Given the description of an element on the screen output the (x, y) to click on. 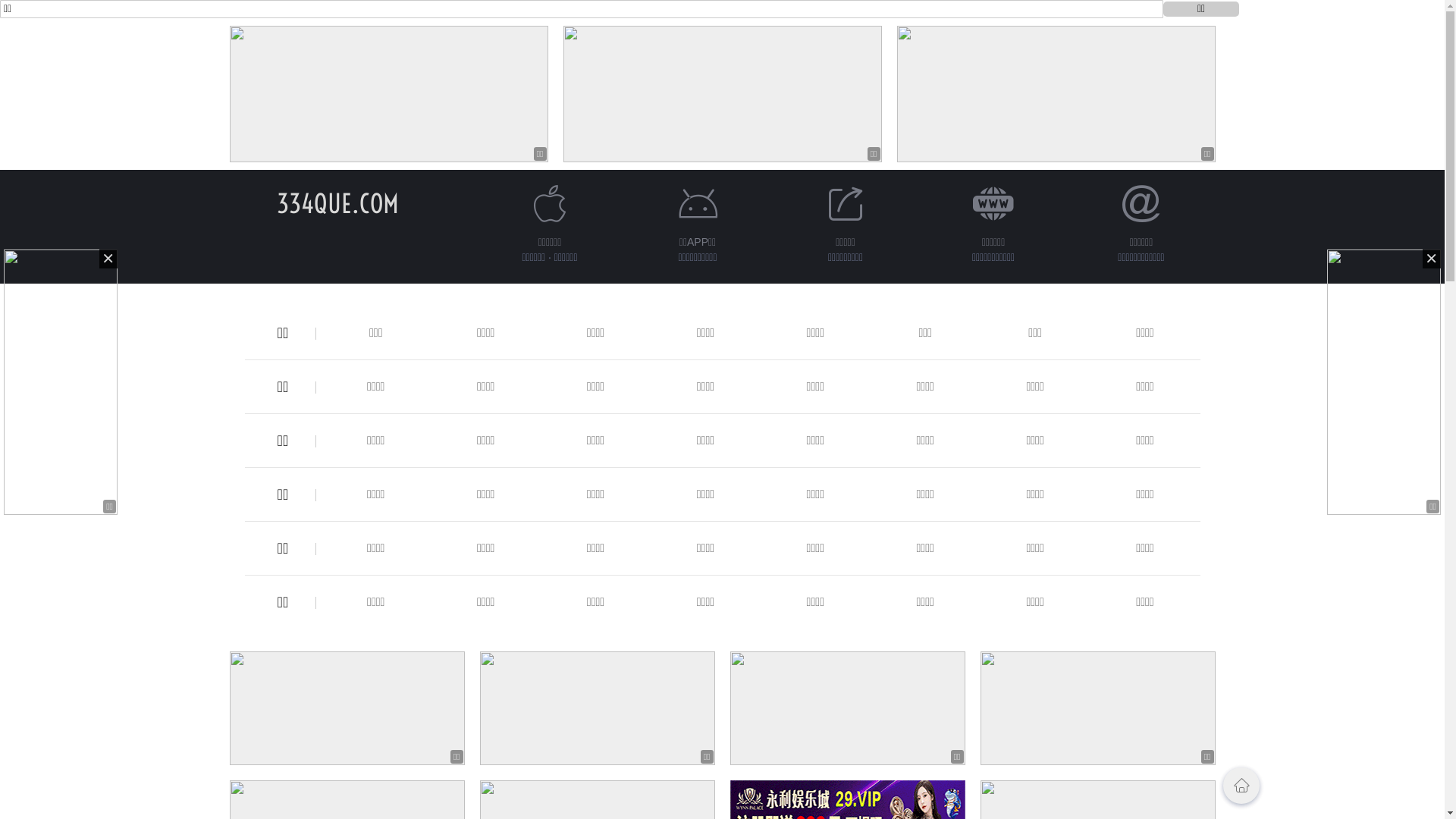
334QUE.COM Element type: text (337, 203)
